Given the description of an element on the screen output the (x, y) to click on. 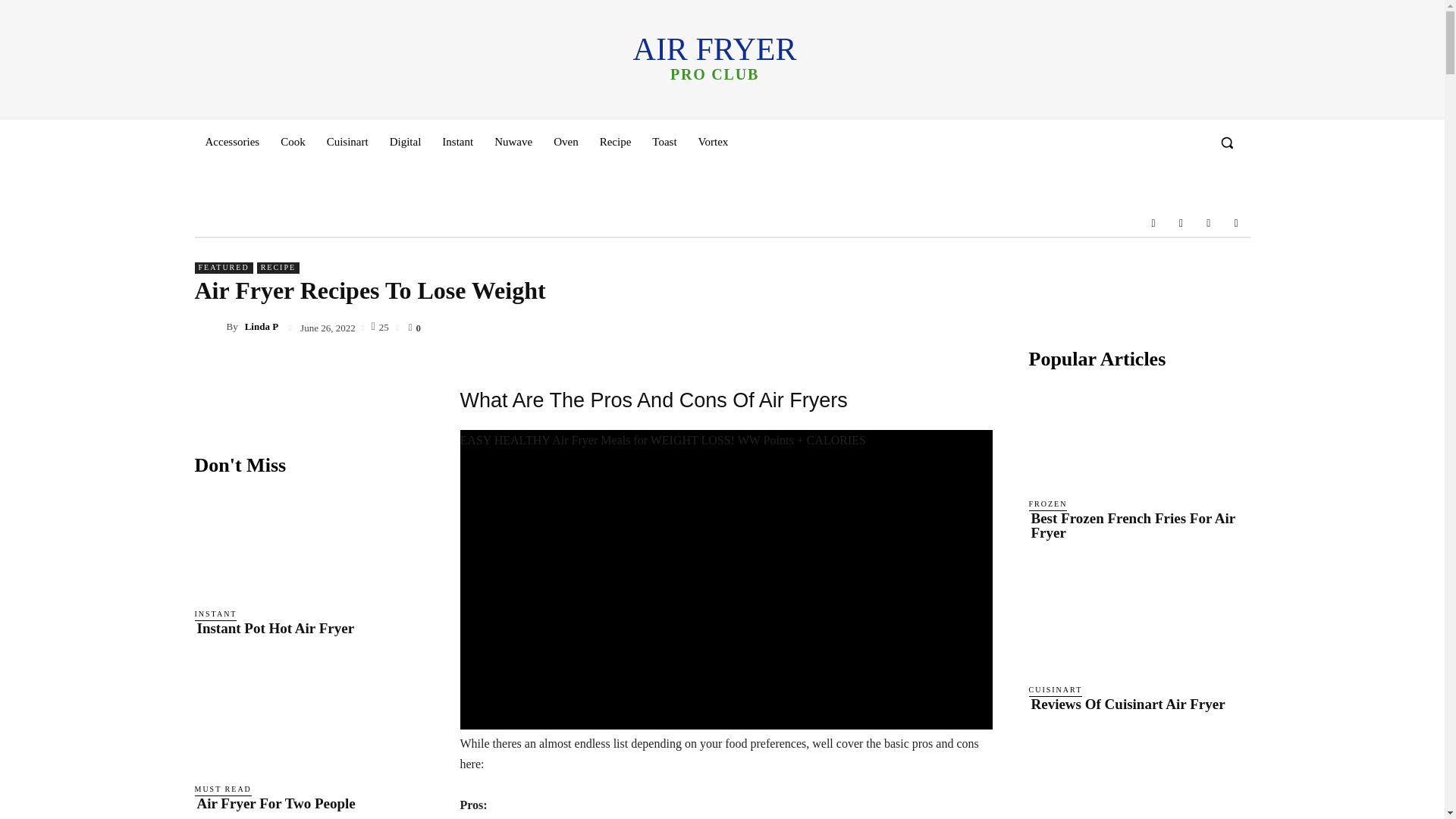
VKontakte (713, 57)
Recipe (1209, 222)
Instagram (615, 141)
Vortex (1180, 222)
Toast (713, 141)
Digital (664, 141)
Oven (405, 141)
Youtube (566, 141)
Instant (1236, 222)
